Given the description of an element on the screen output the (x, y) to click on. 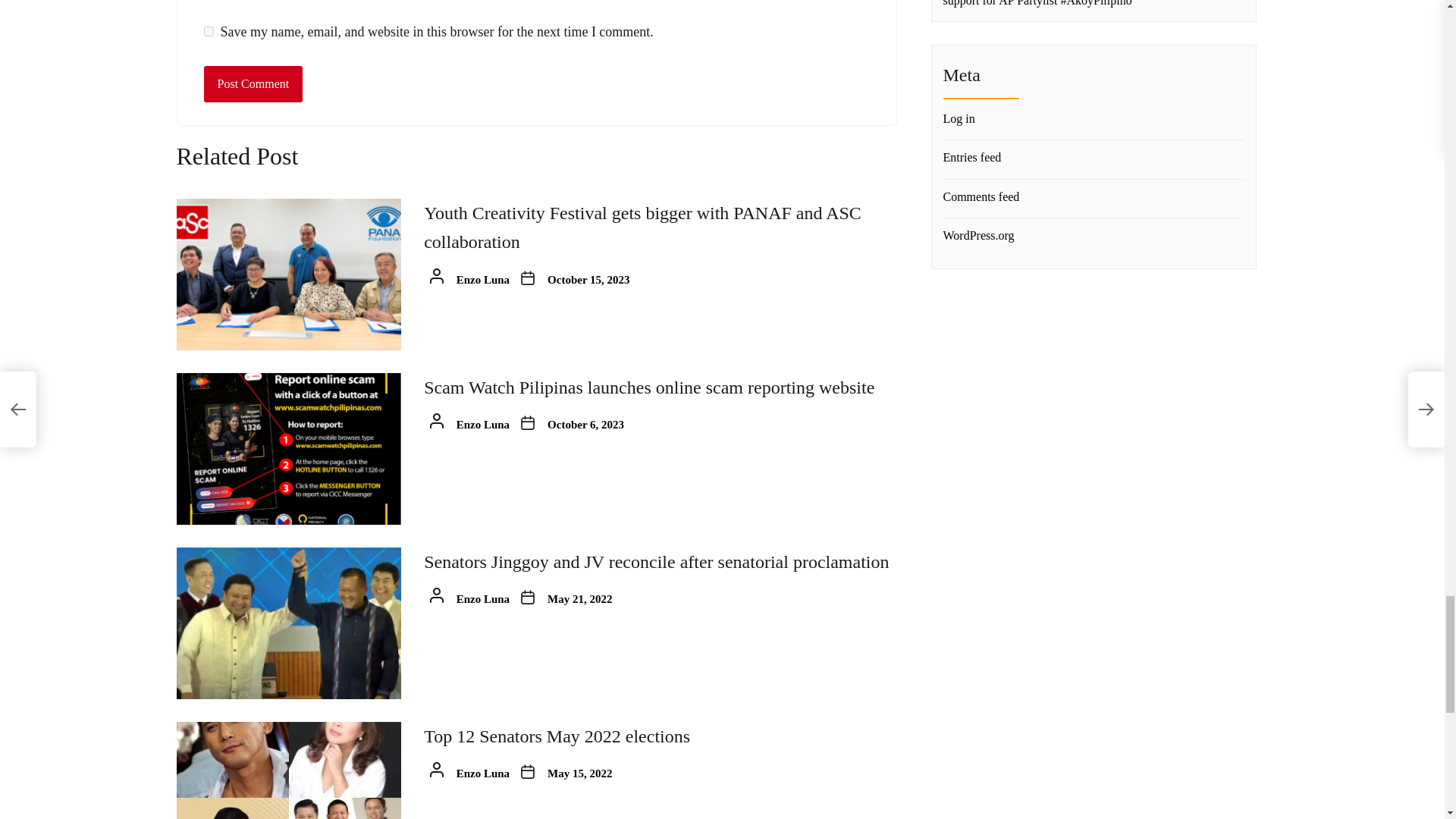
yes (207, 31)
Post Comment (252, 84)
